Given the description of an element on the screen output the (x, y) to click on. 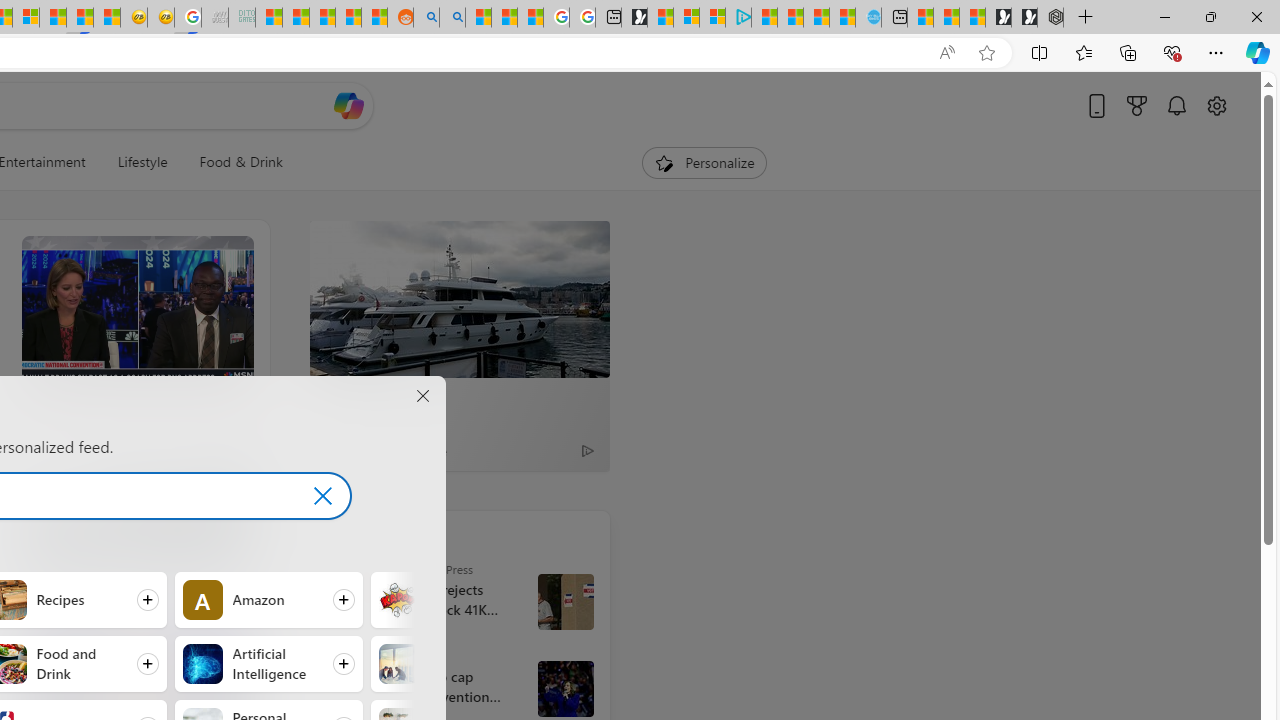
Clear (322, 495)
Notifications (1176, 105)
The Associated Press (349, 568)
Ad Choice (587, 449)
Follow Comics (464, 599)
oceanbluemarine (400, 450)
Navy Quest (214, 17)
